Given the description of an element on the screen output the (x, y) to click on. 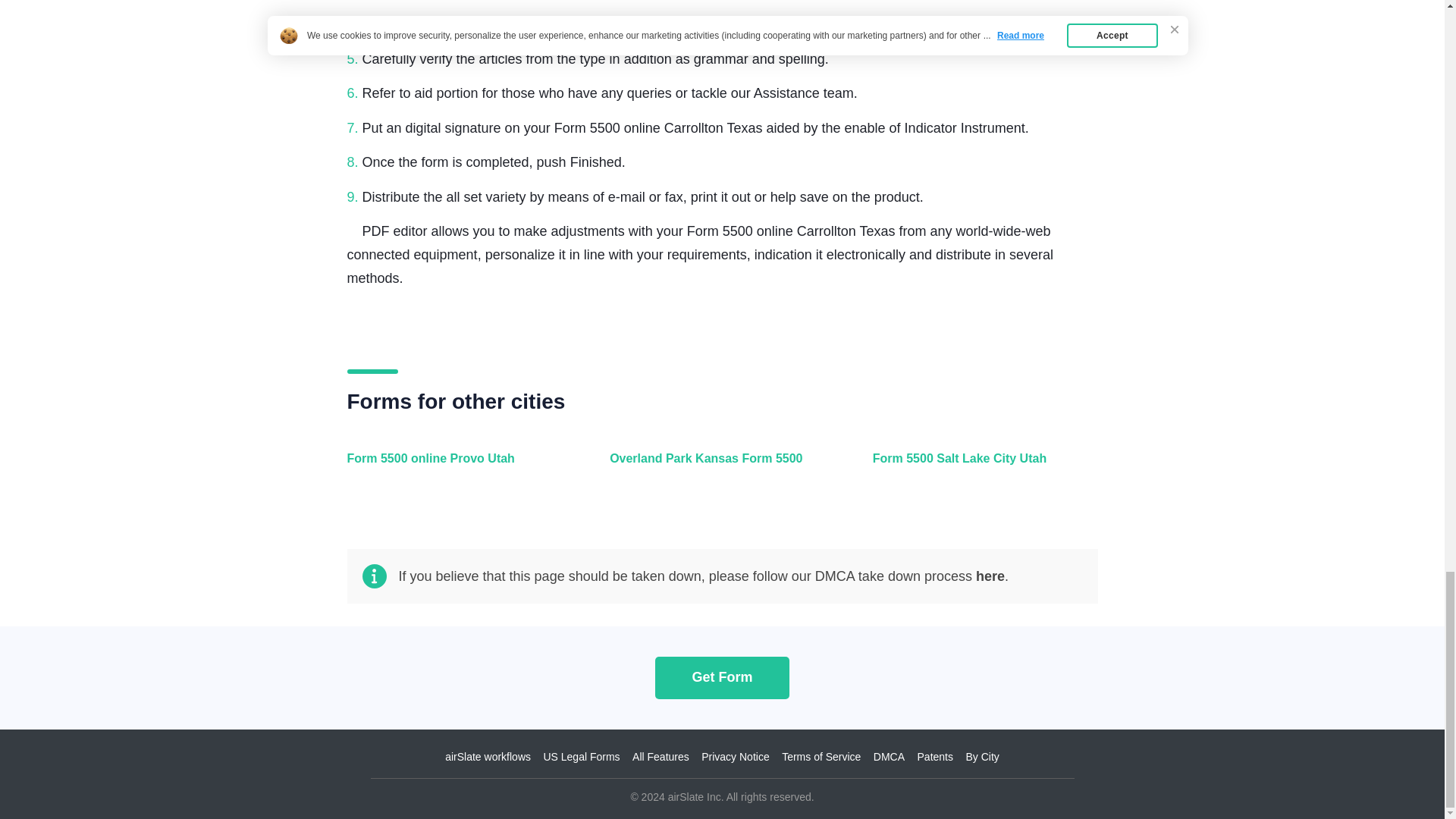
Privacy Notice (734, 756)
Patents (935, 756)
Terms of Service (820, 756)
DMCA (888, 756)
Form 5500 Salt Lake City Utah (981, 466)
Overland Park Kansas Form 5500 (718, 466)
here (989, 575)
All Features (659, 756)
airSlate workflows (488, 756)
US Legal Forms (581, 756)
By City (981, 756)
Get Form (722, 676)
Form 5500 online Provo Utah (456, 466)
